Given the description of an element on the screen output the (x, y) to click on. 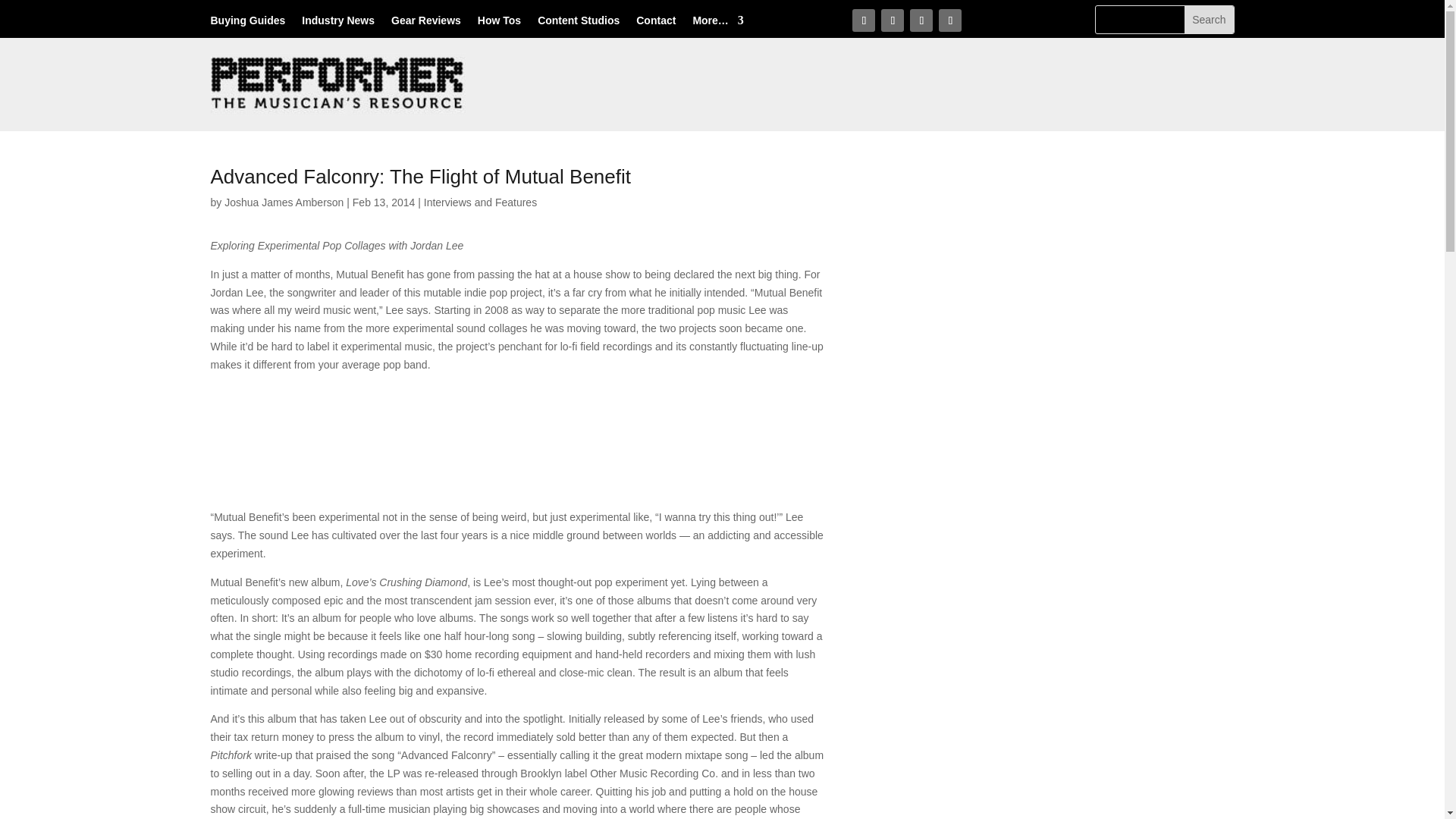
Follow on Instagram (921, 20)
Contact (655, 23)
Buying Guides (248, 23)
Industry News (337, 23)
Posts by Joshua James Amberson (283, 202)
performer-logo-short (339, 84)
Follow on Facebook (863, 20)
Content Studios (578, 23)
Search (1209, 19)
Search (1209, 19)
